Given the description of an element on the screen output the (x, y) to click on. 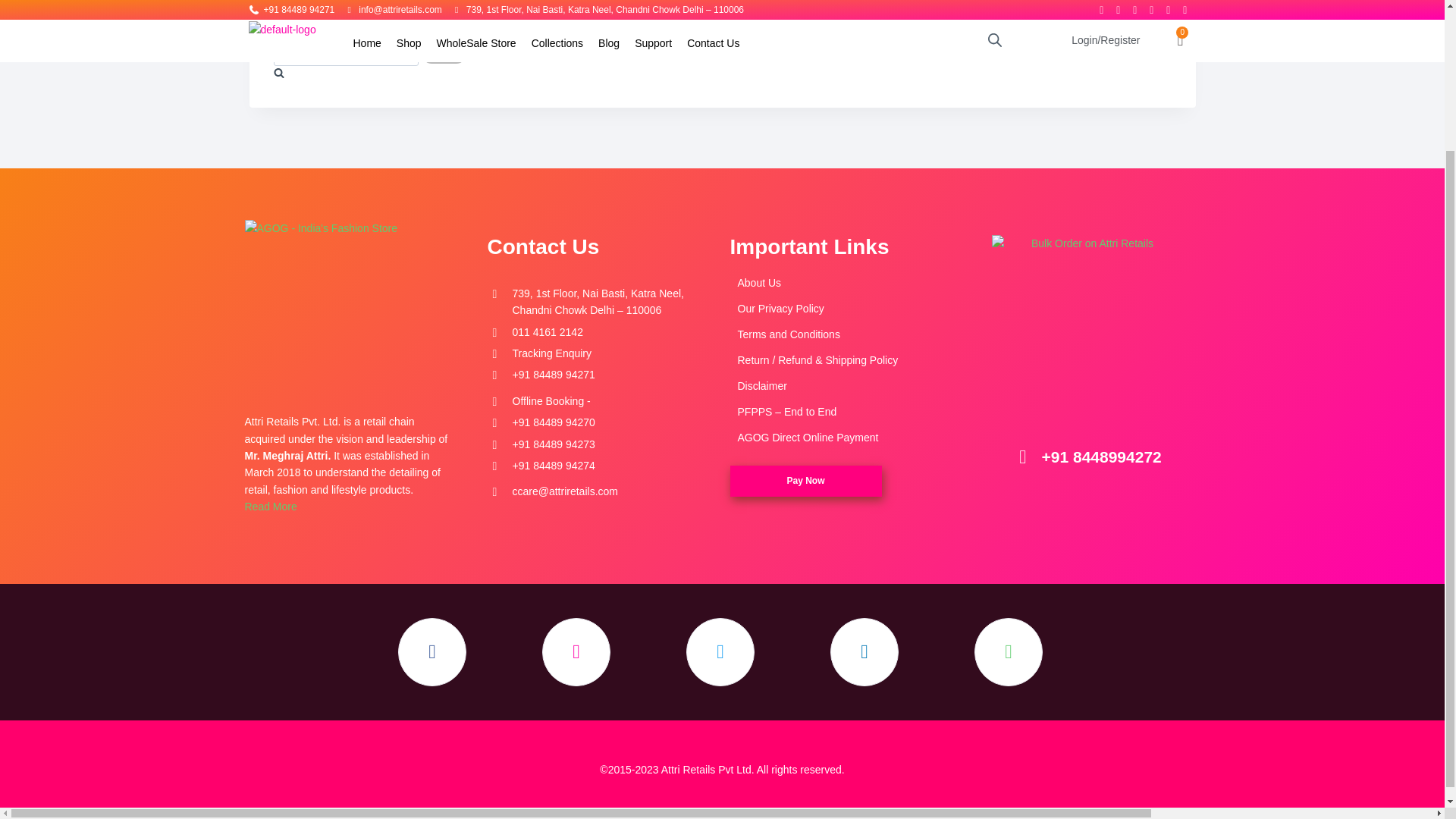
Search (442, 52)
Search (442, 52)
